Given the description of an element on the screen output the (x, y) to click on. 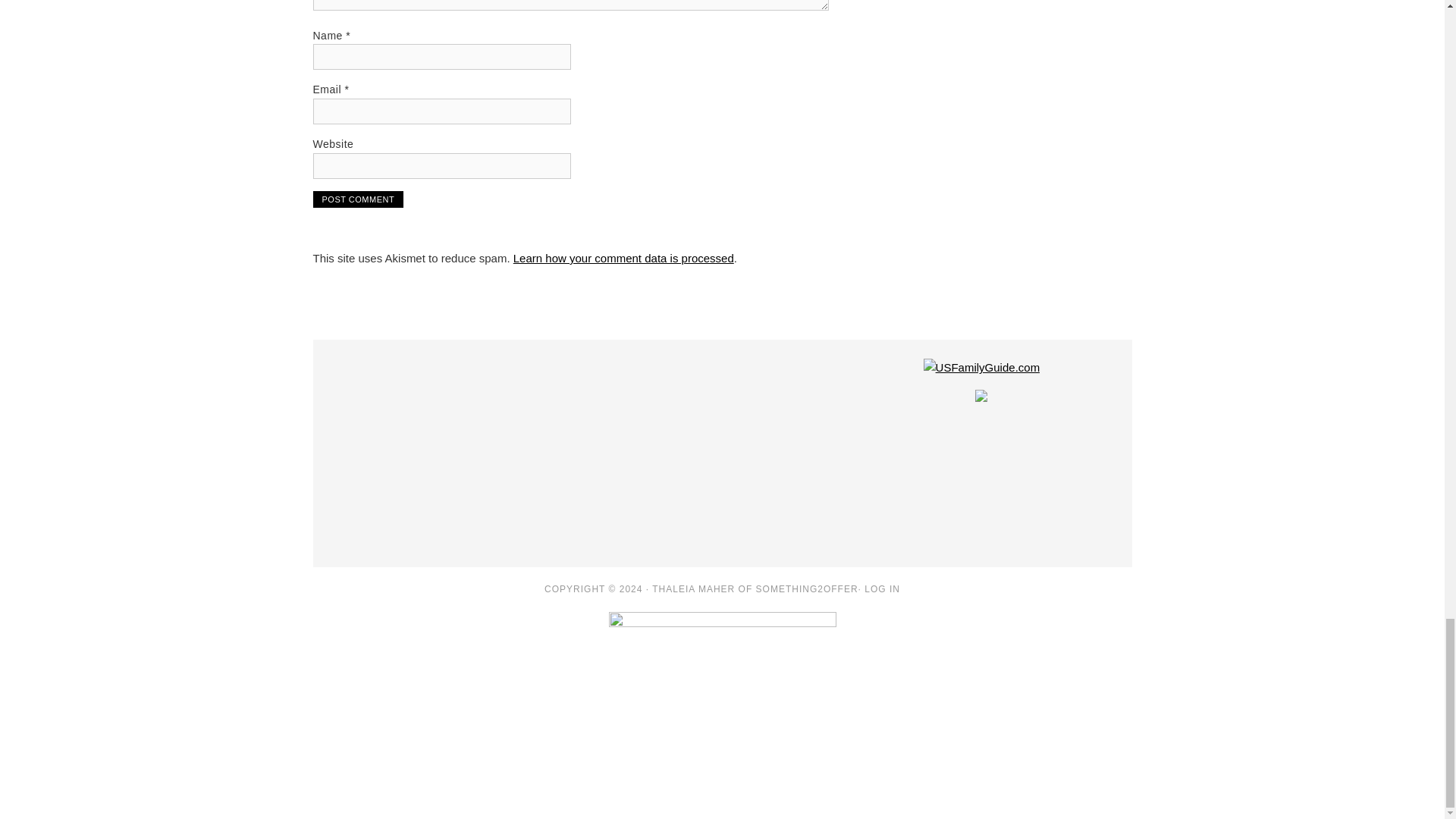
Post Comment (358, 199)
